Given the description of an element on the screen output the (x, y) to click on. 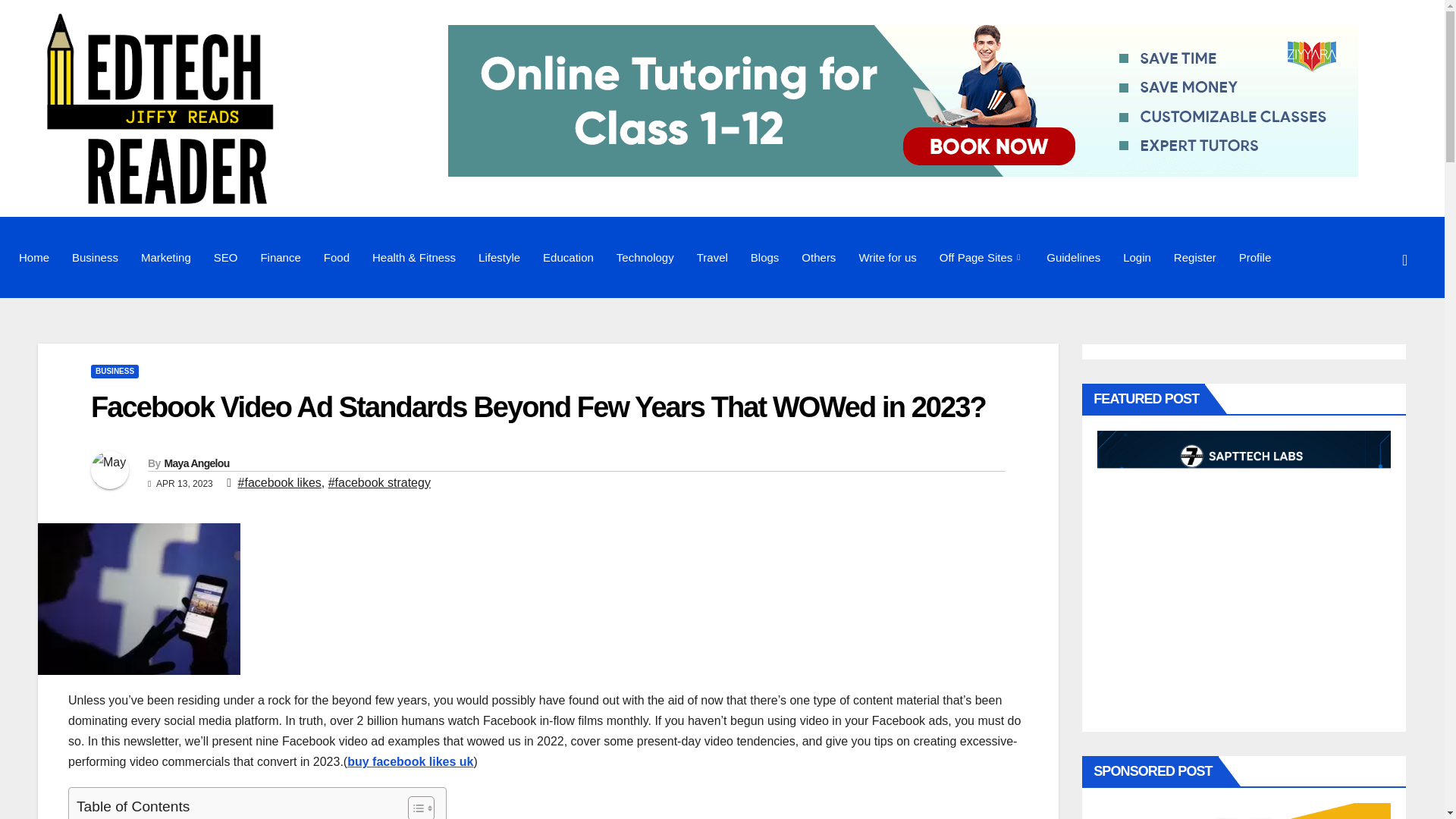
Register (1194, 257)
Finance (279, 257)
Guidelines (1073, 257)
Education (568, 257)
Business (95, 257)
Off Page Sites (981, 257)
Technology (645, 257)
Lifestyle (499, 257)
Write for us (887, 257)
